Given the description of an element on the screen output the (x, y) to click on. 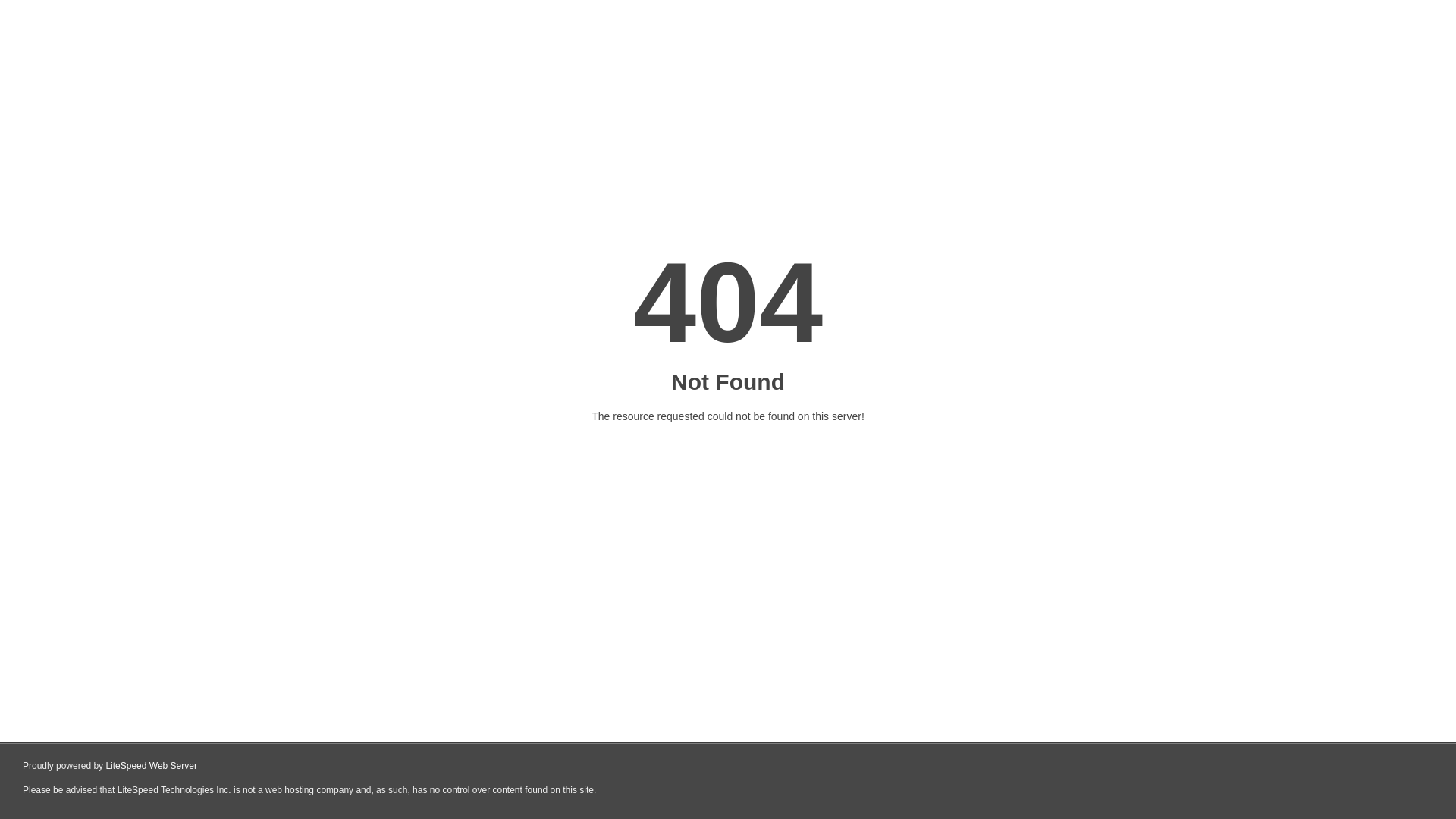
LiteSpeed Web Server Element type: text (151, 765)
